Given the description of an element on the screen output the (x, y) to click on. 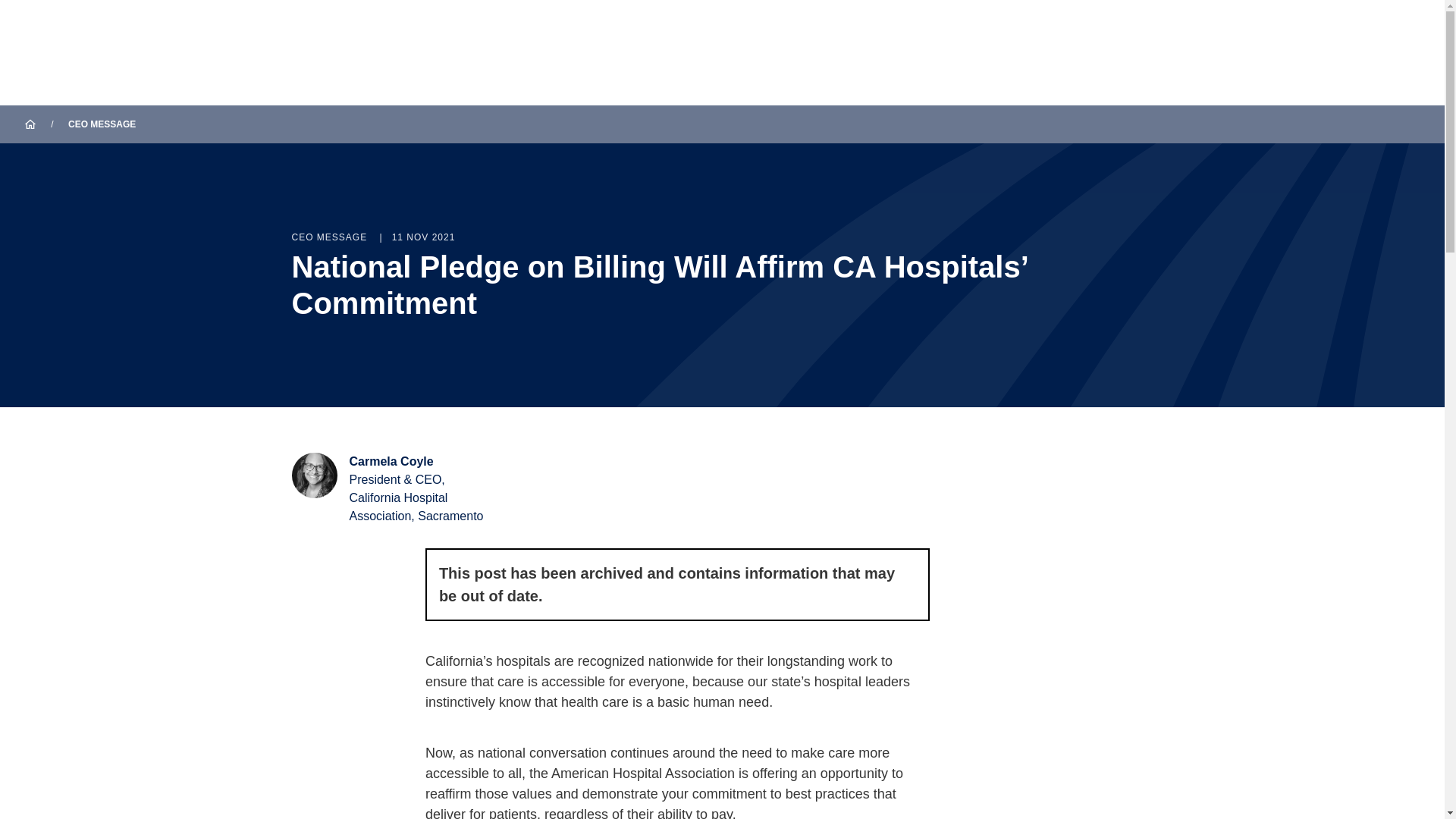
Carmela Coyle (390, 461)
CEO MESSAGE (102, 124)
